Given the description of an element on the screen output the (x, y) to click on. 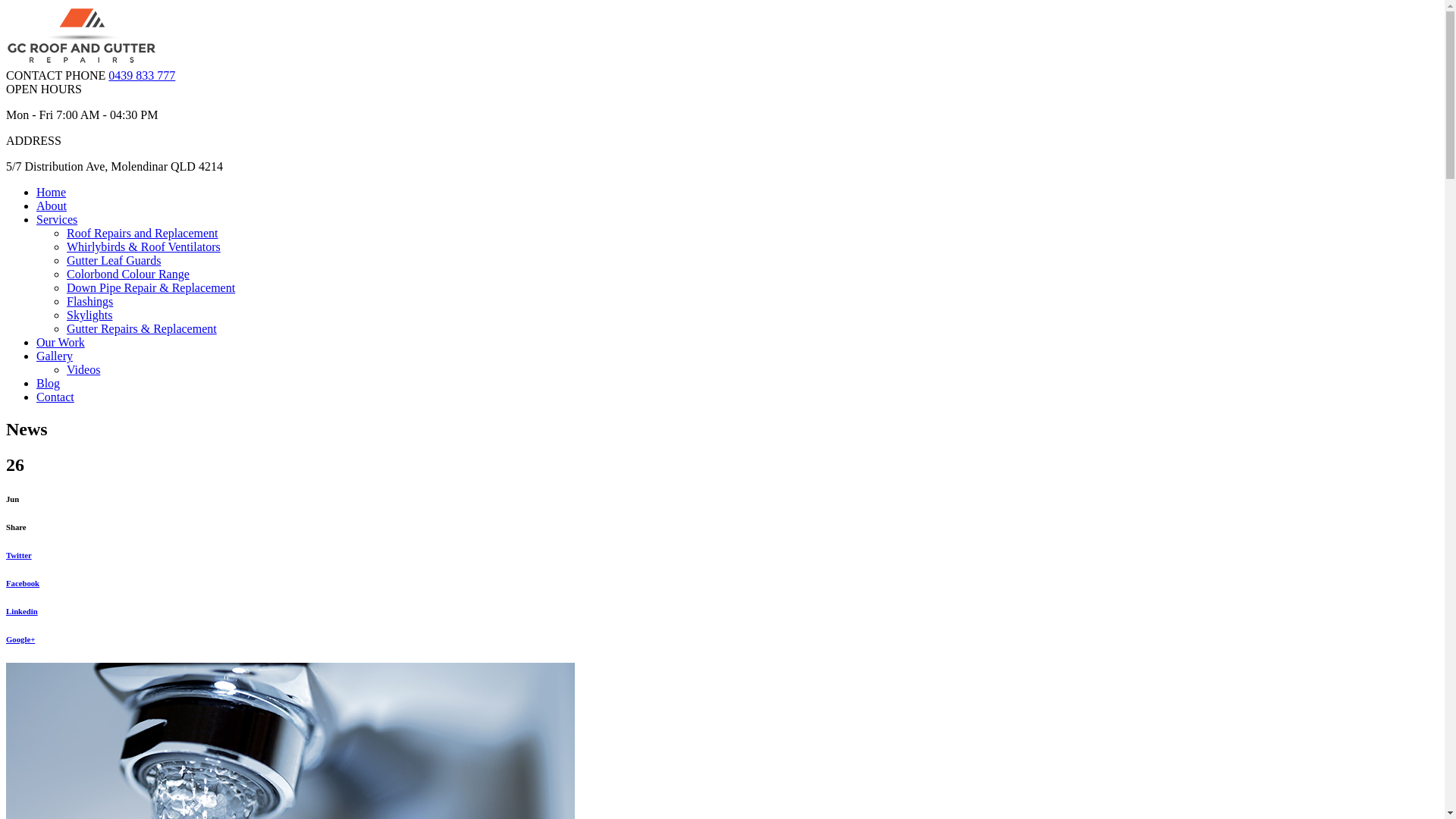
Gutter Repairs & Replacement Element type: text (141, 328)
Videos Element type: text (83, 369)
Blog Element type: text (47, 382)
Skylights Element type: text (89, 314)
Colorbond Colour Range Element type: text (127, 273)
Whirlybirds & Roof Ventilators Element type: text (143, 246)
Services Element type: text (56, 219)
Linkedin Element type: text (722, 610)
Gutter Leaf Guards Element type: text (113, 260)
Our Work Element type: text (60, 341)
Gallery Element type: text (54, 355)
Facebook Element type: text (722, 582)
0439 833 777 Element type: text (141, 75)
Roof Repairs and Replacement Element type: text (142, 232)
Google+ Element type: text (722, 638)
Contact Element type: text (55, 396)
Down Pipe Repair & Replacement Element type: text (150, 287)
Home Element type: text (50, 191)
Flashings Element type: text (89, 300)
About Element type: text (51, 205)
Twitter Element type: text (722, 554)
